Given the description of an element on the screen output the (x, y) to click on. 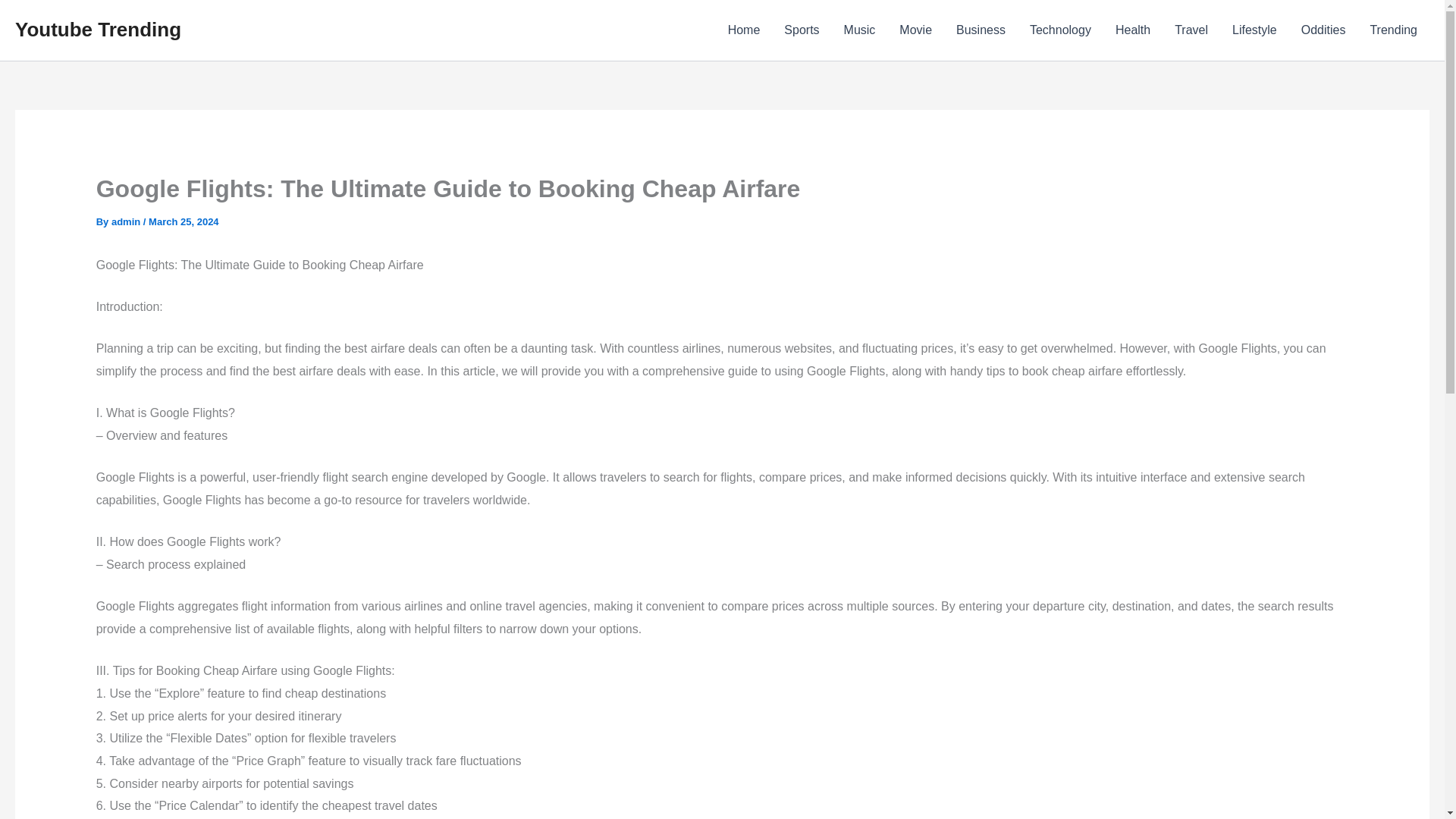
Lifestyle (1254, 30)
Technology (1060, 30)
Movie (914, 30)
admin (127, 221)
Business (980, 30)
View all posts by admin (127, 221)
Trending (1392, 30)
Travel (1190, 30)
Youtube Trending (97, 29)
Sports (801, 30)
Health (1132, 30)
Oddities (1323, 30)
Home (744, 30)
Music (859, 30)
